Given the description of an element on the screen output the (x, y) to click on. 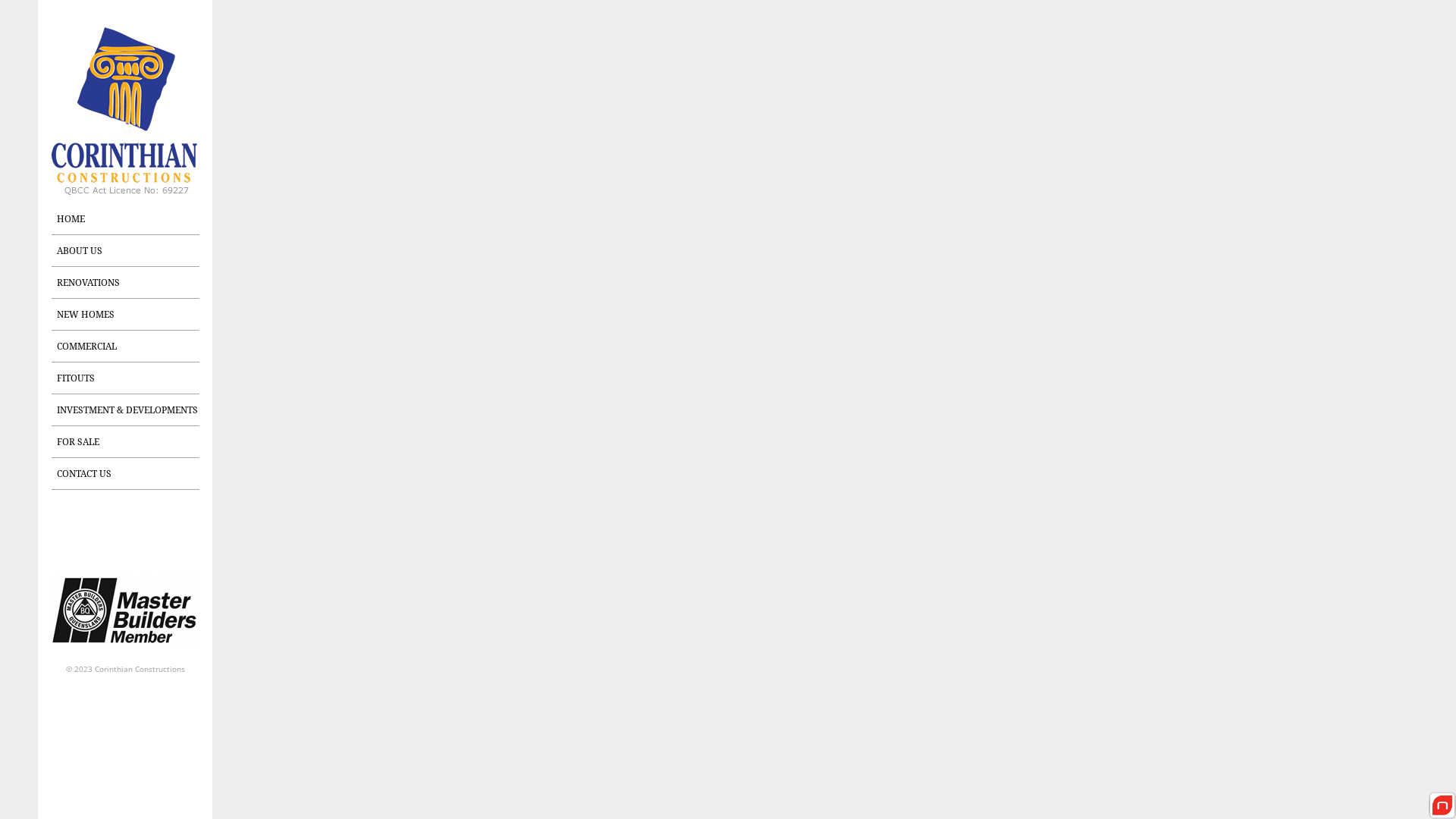
NEW HOMES Element type: text (128, 314)
INVESTMENT & DEVELOPMENTS Element type: text (128, 410)
FITOUTS Element type: text (128, 378)
FOR SALE Element type: text (128, 441)
CONTACT US Element type: text (128, 473)
COMMERCIAL Element type: text (128, 346)
RENOVATIONS Element type: text (128, 282)
ABOUT US Element type: text (128, 250)
HOME Element type: text (128, 120)
